Given the description of an element on the screen output the (x, y) to click on. 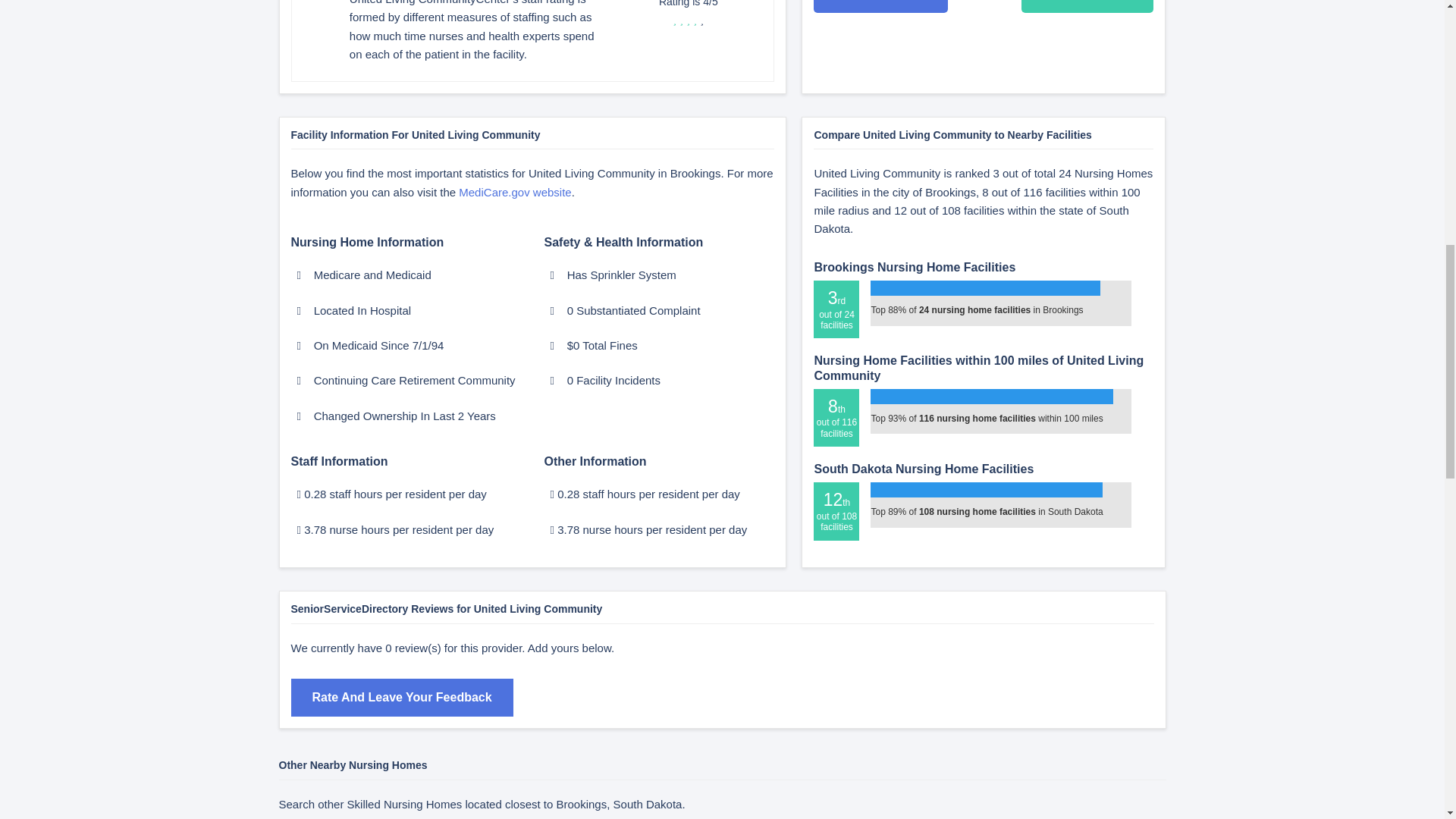
MediCare.gov website (514, 192)
CLAIM LISTING (1087, 6)
Rate And Leave Your Feedback (402, 697)
REQUEST INFO (880, 6)
